Given the description of an element on the screen output the (x, y) to click on. 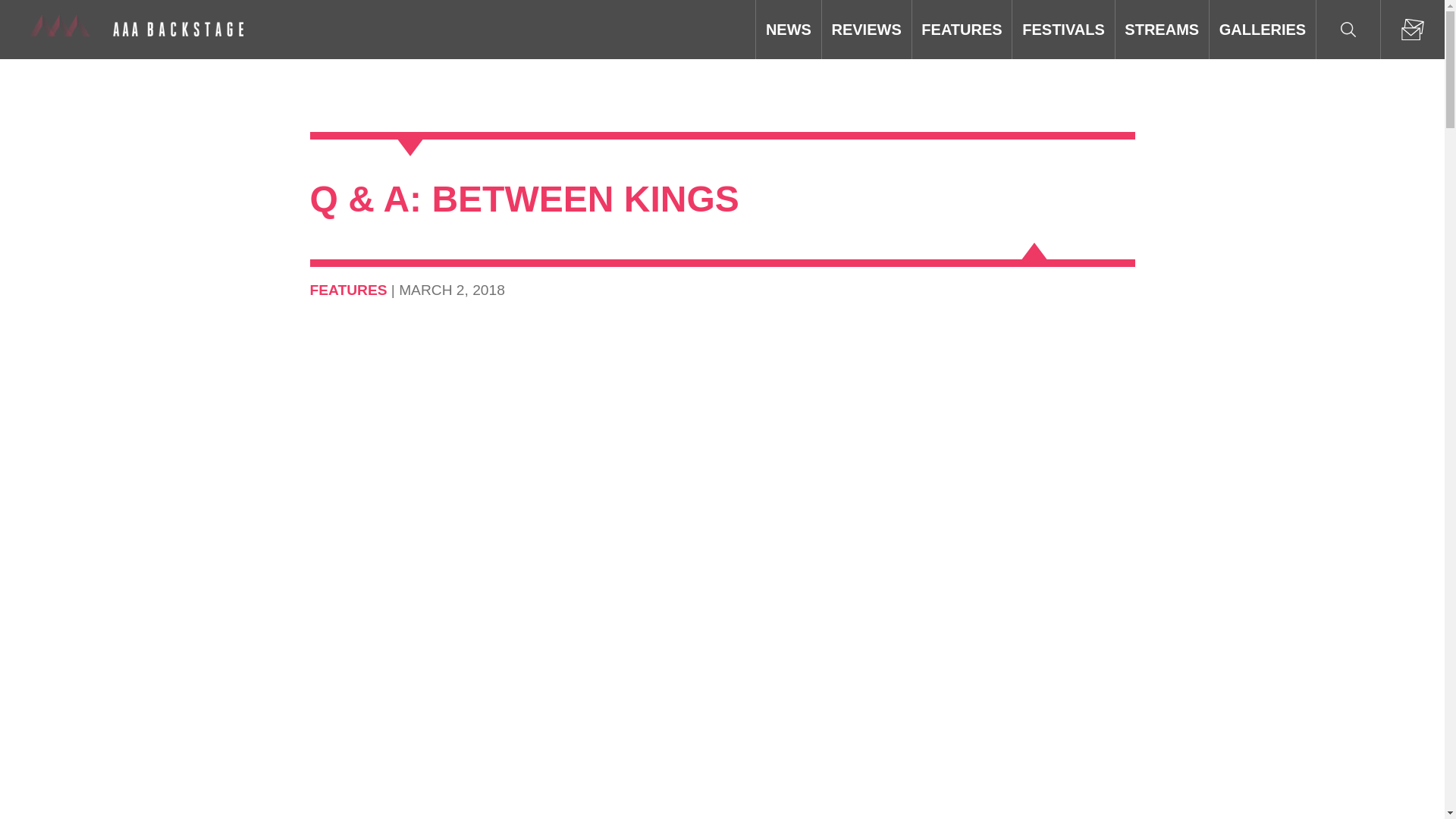
FESTIVALS (1062, 29)
NEWS (788, 29)
Search (1348, 29)
FEATURES (961, 29)
GALLERIES (1262, 29)
STREAMS (1161, 29)
REVIEWS (866, 29)
